Given the description of an element on the screen output the (x, y) to click on. 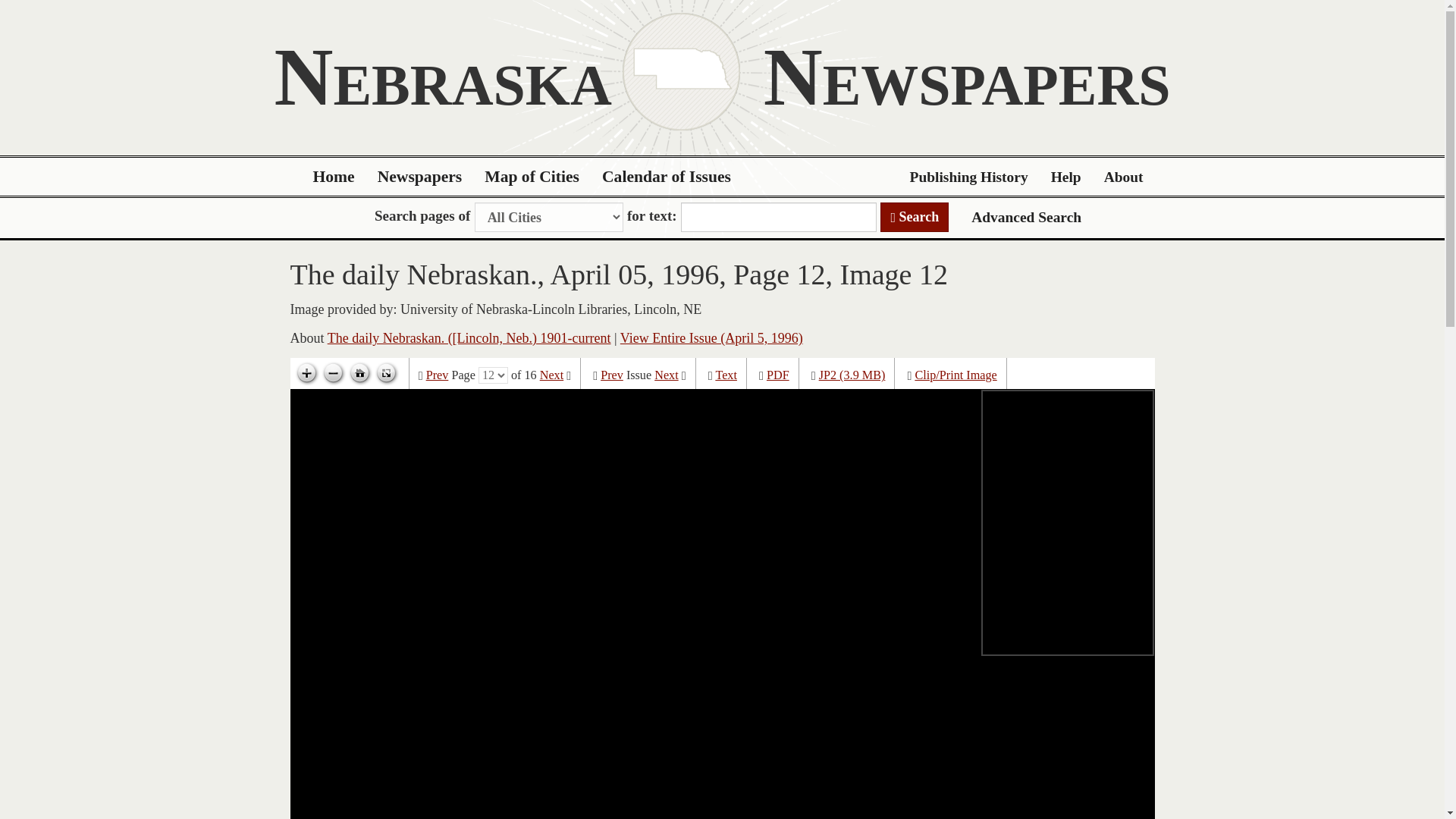
Newspapers (420, 176)
Text (725, 375)
Publishing History (968, 176)
Zoom in (307, 373)
Prev (611, 375)
Calendar of Issues (666, 176)
Toggle full page (385, 373)
About (1123, 176)
Help (1066, 176)
Advanced Search (1026, 216)
Home (333, 176)
Next (551, 375)
PDF (778, 375)
Next (665, 375)
Search (914, 217)
